Given the description of an element on the screen output the (x, y) to click on. 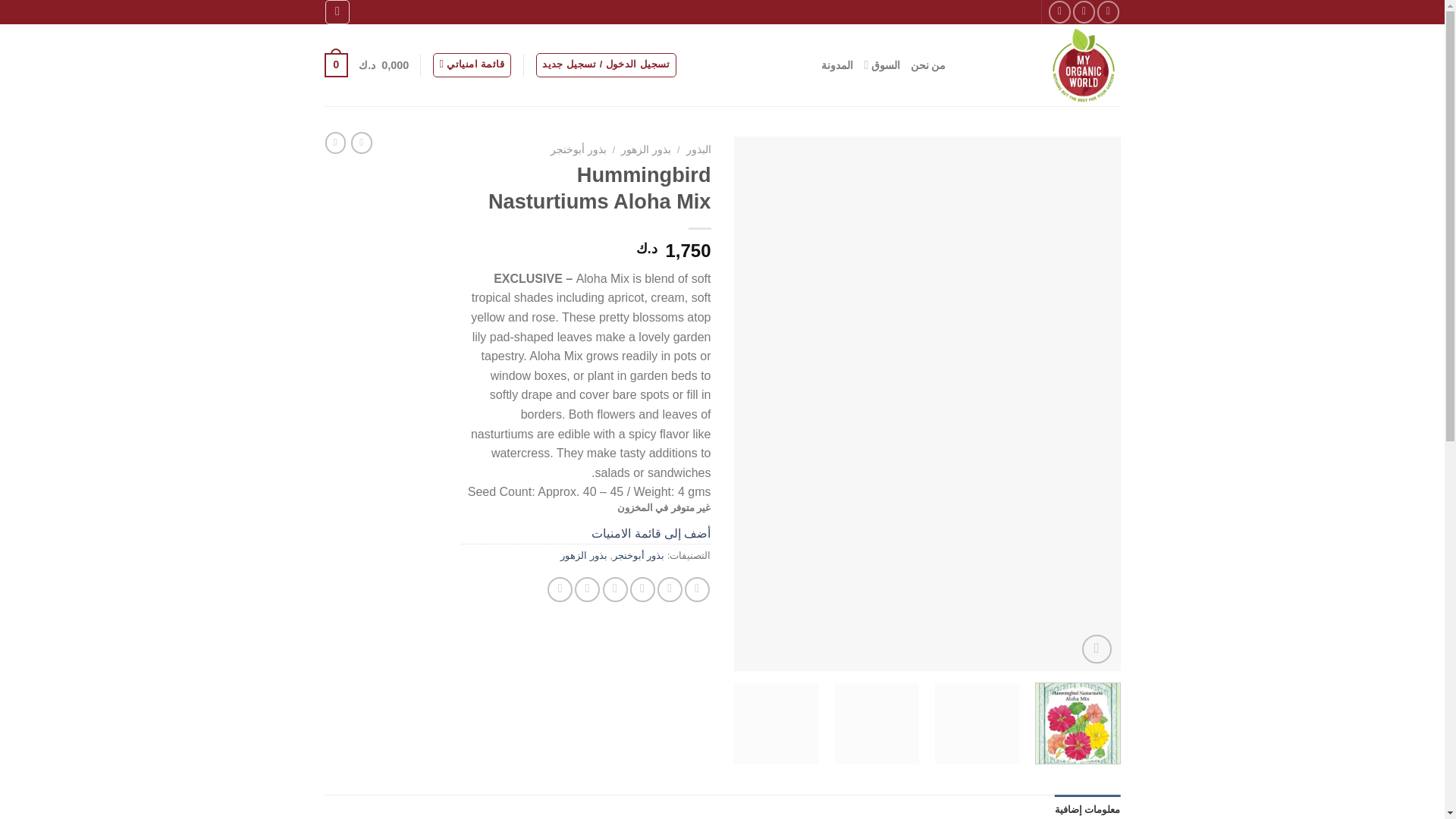
OLYMPUS DIGITAL CAMERA (540, 276)
My Organic World - NOTHING BUT THE BEST FOR YOUR GARDEN (1045, 65)
